Given the description of an element on the screen output the (x, y) to click on. 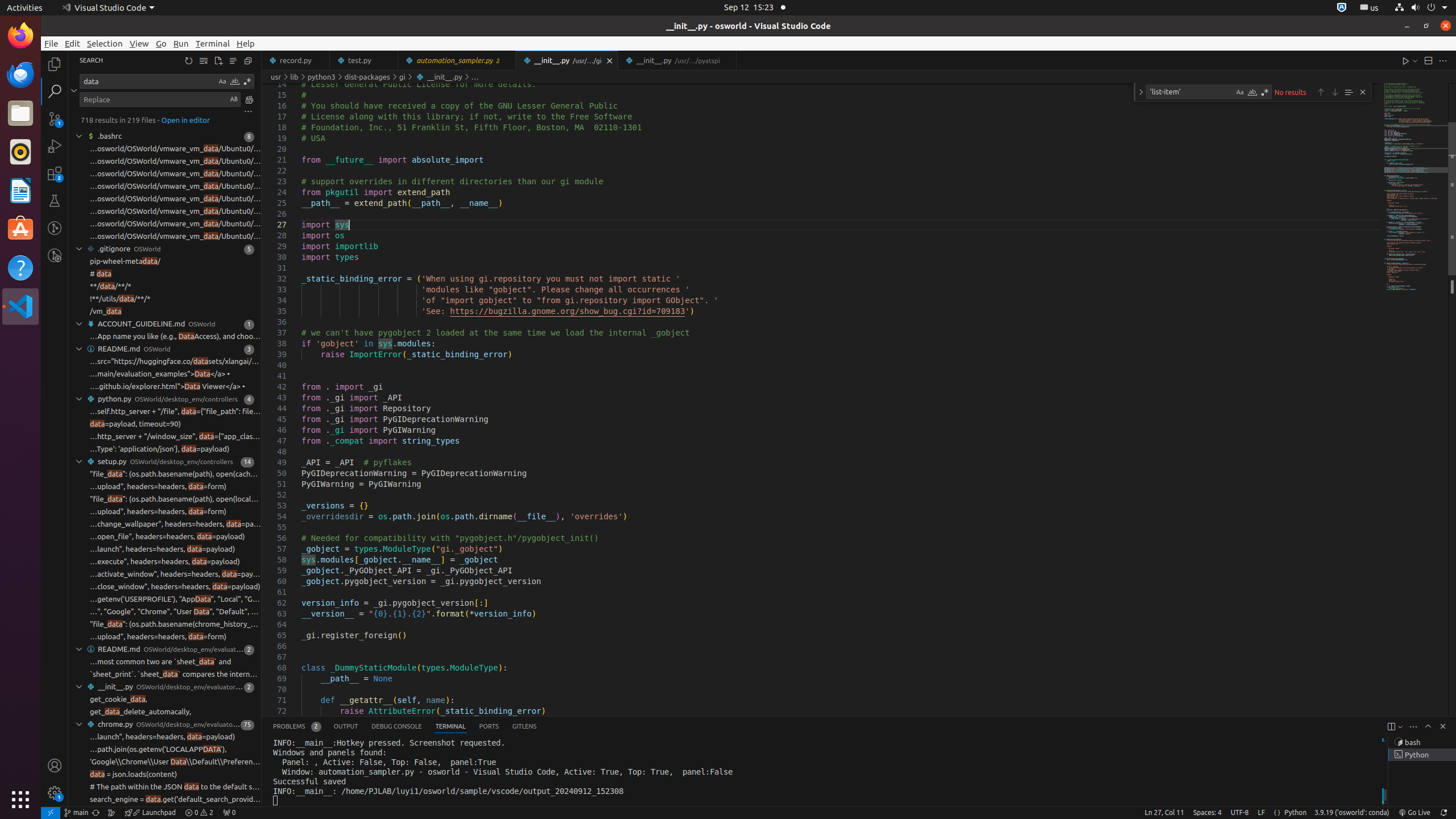
' local vm_path="/home/PJLAB/luyi1/osworld/OSWorld/vmware_vm_data/Ubuntu0/Ubuntu0.vmx"' at column 64 found data Element type: tree-item (164, 148)
3 matches in file README.md of folder OSWorld, Search result Element type: tree-item (164, 348)
4 matches in file python.py of folder OSWorld/desktop_env/controllers, Search result Element type: tree-item (164, 398)
…http_server + "/window_size", data={"app_class_name": app_class_name}) Element type: link (175, 436)
View as Tree Element type: push-button (232, 60)
